Given the description of an element on the screen output the (x, y) to click on. 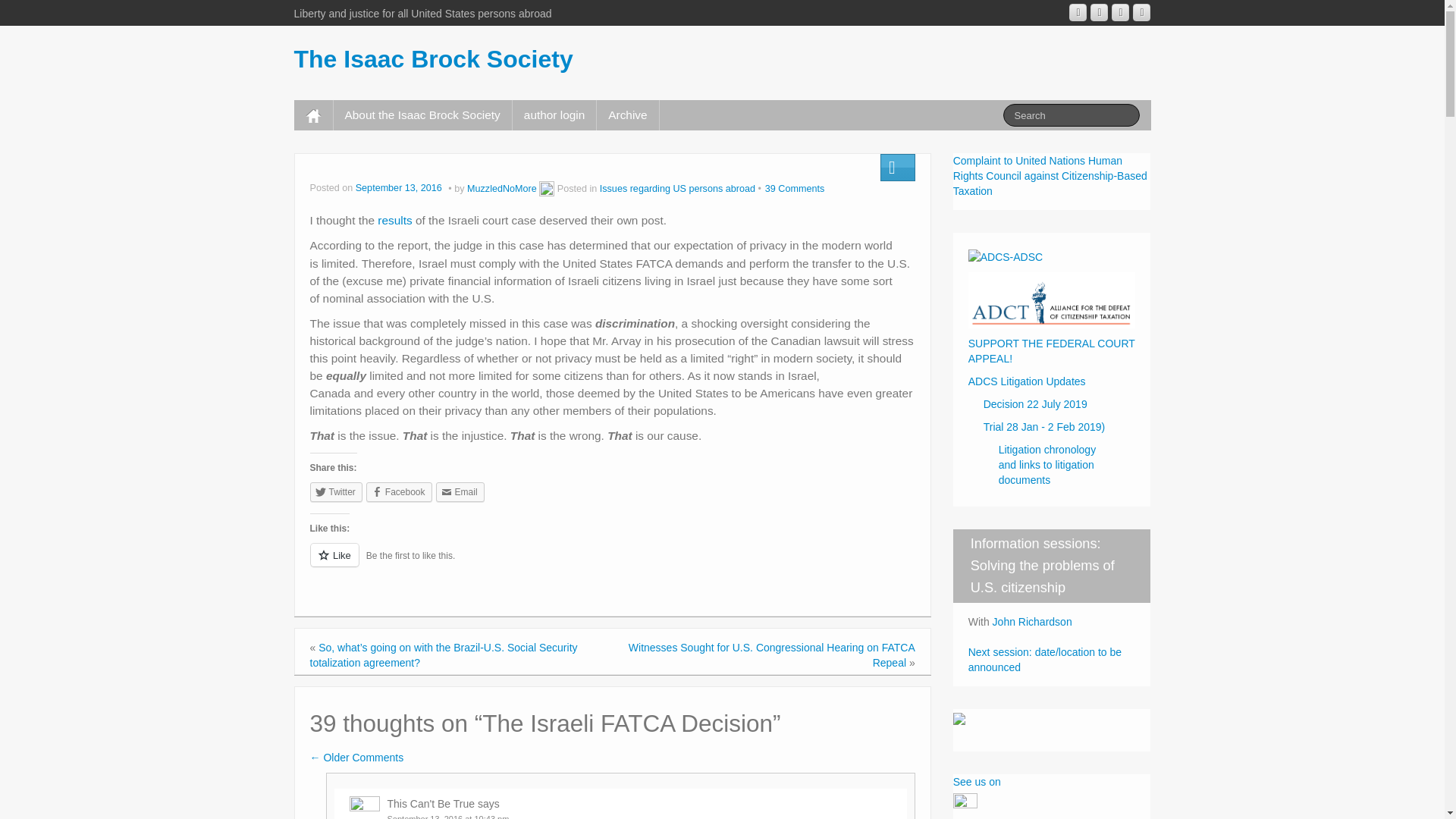
September 13, 2016 (400, 188)
MuzzledNoMore (502, 188)
ADCT (1051, 298)
About the Isaac Brock Society (422, 114)
View all posts by MuzzledNoMore (502, 188)
Twitter (334, 492)
author login (553, 114)
Archive (627, 114)
View all posts by MuzzledNoMore (546, 188)
results (394, 219)
The Isaac Brock Society Googleplus (1077, 12)
September 13, 2016 at 10:43 pm (447, 816)
The Isaac Brock Society Twitter (1141, 12)
The Isaac Brock Society (433, 58)
